Given the description of an element on the screen output the (x, y) to click on. 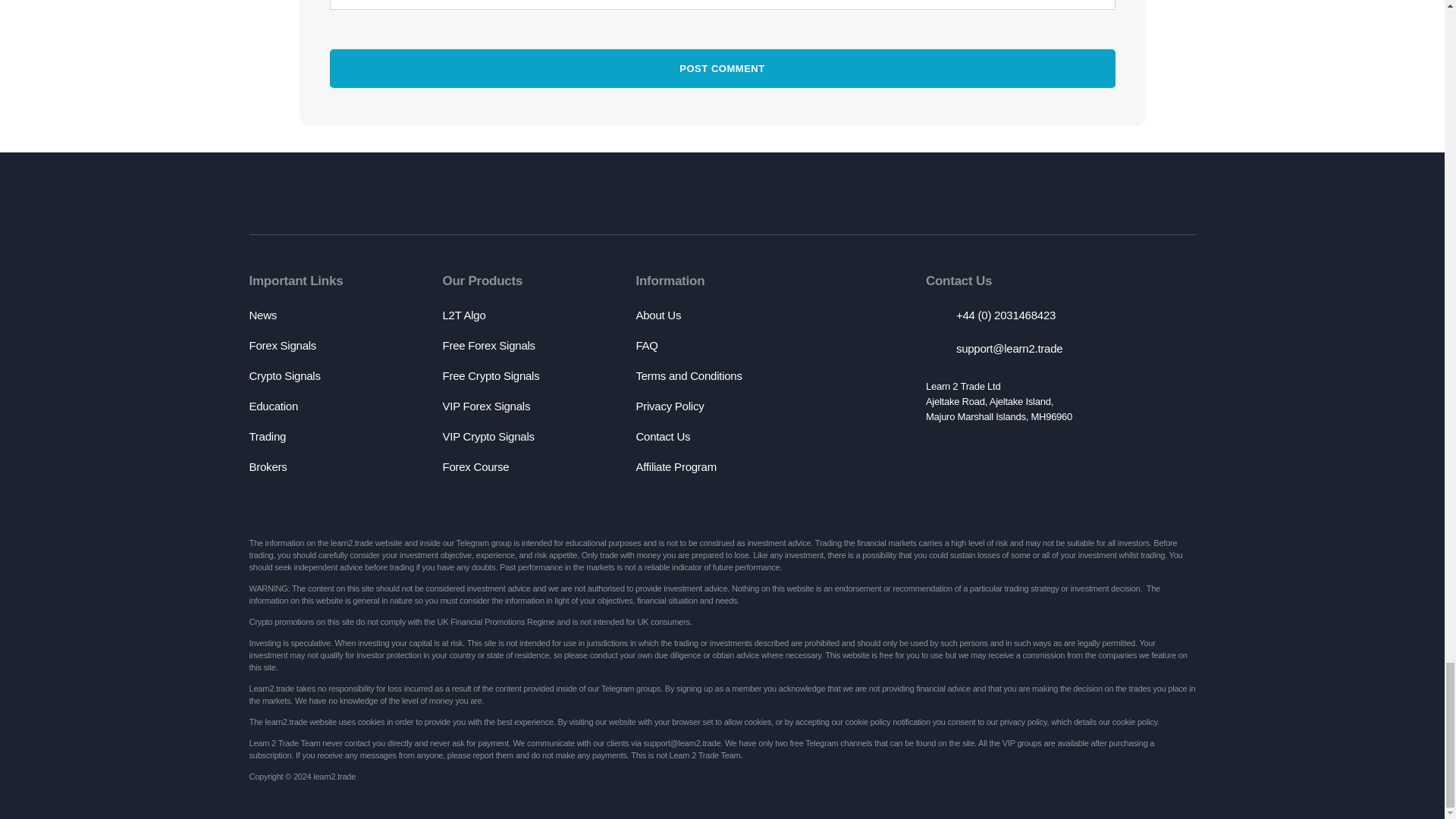
Post Comment (722, 68)
